Given the description of an element on the screen output the (x, y) to click on. 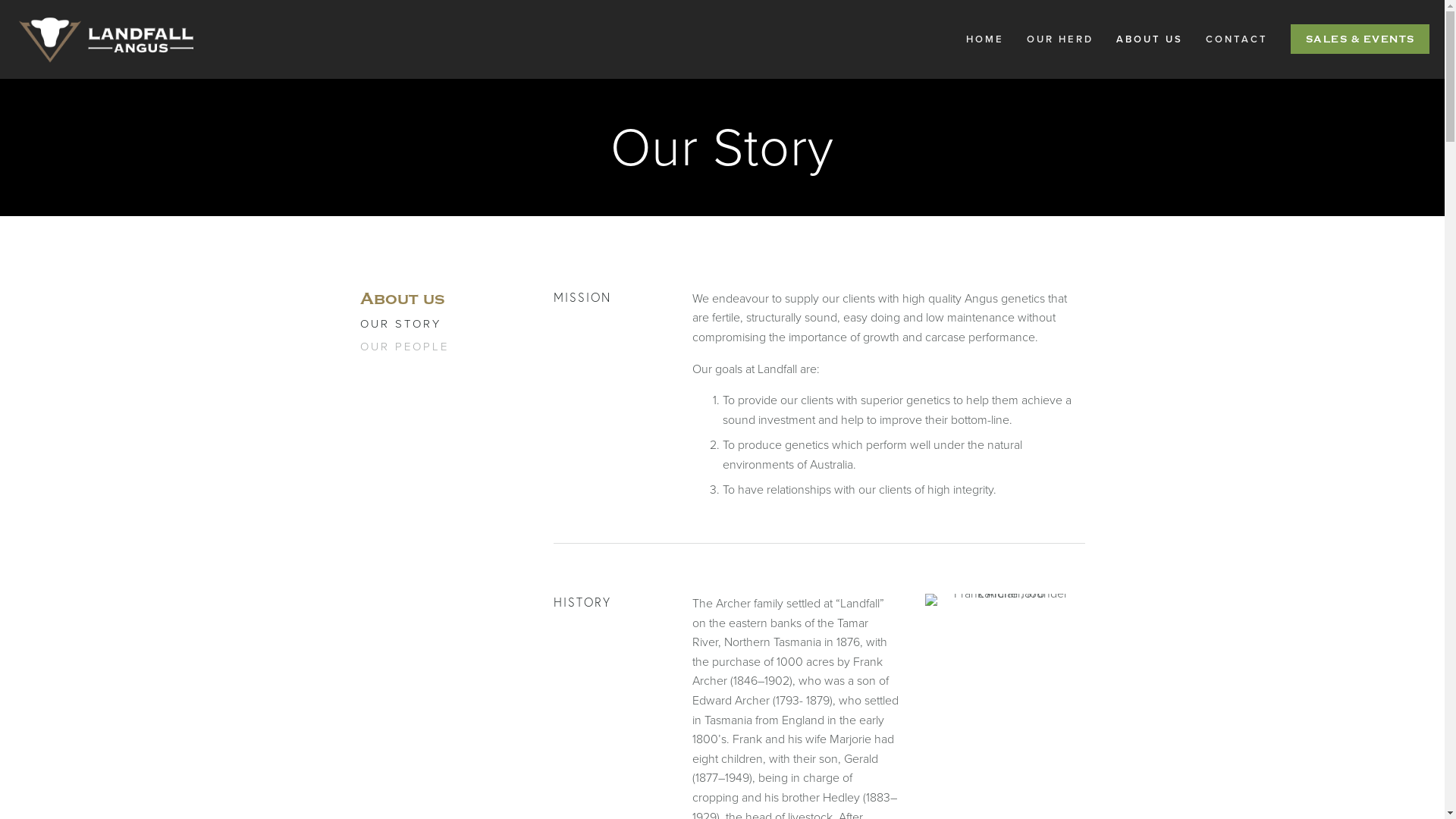
CONTACT Element type: text (1236, 39)
SALES & EVENTS Element type: text (1359, 38)
OUR HERD Element type: text (1059, 39)
OUR PEOPLE Element type: text (431, 350)
HOME Element type: text (984, 39)
OUR STORY Element type: text (431, 327)
